Given the description of an element on the screen output the (x, y) to click on. 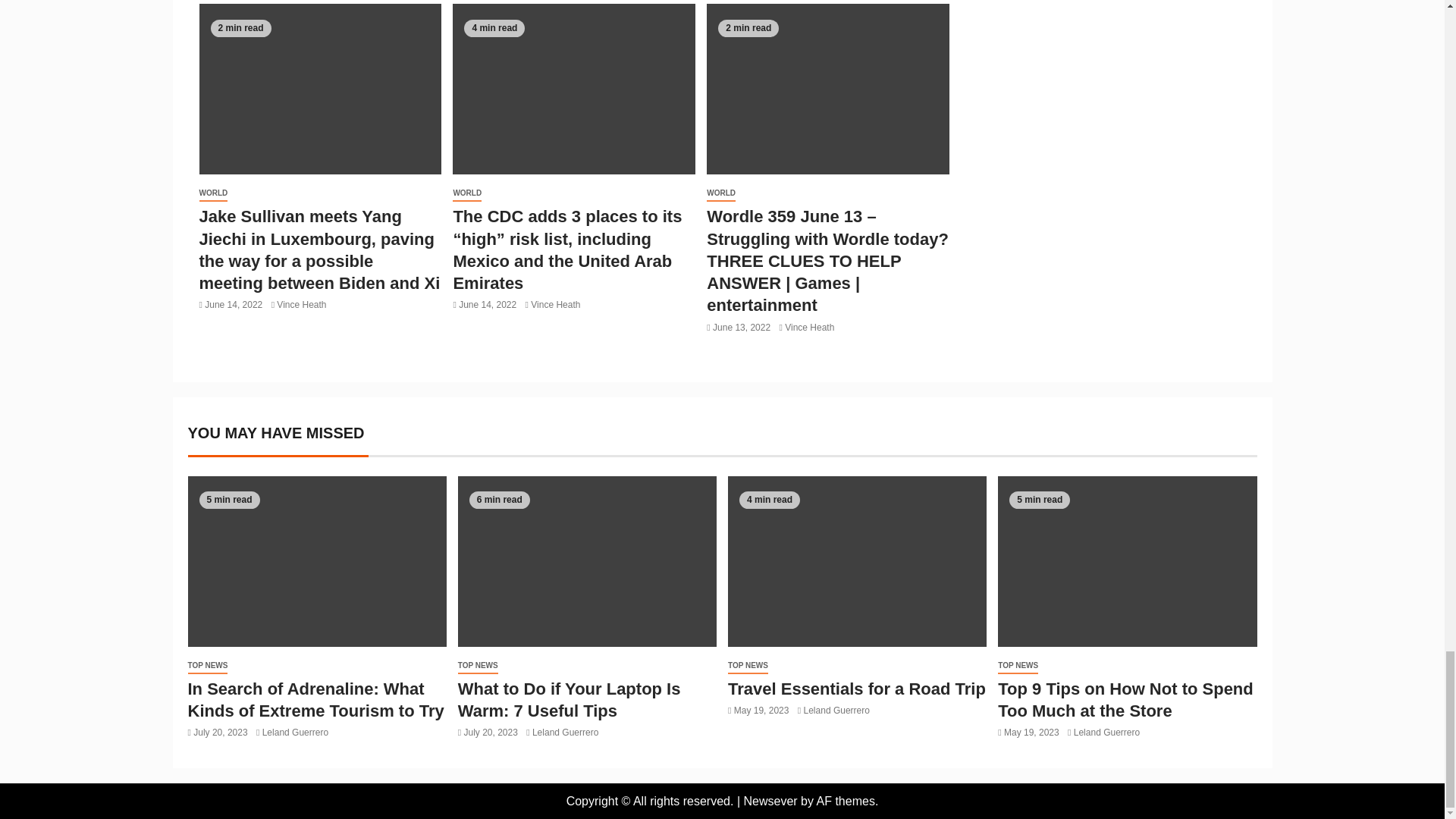
WORLD (212, 193)
Vince Heath (301, 304)
